Given the description of an element on the screen output the (x, y) to click on. 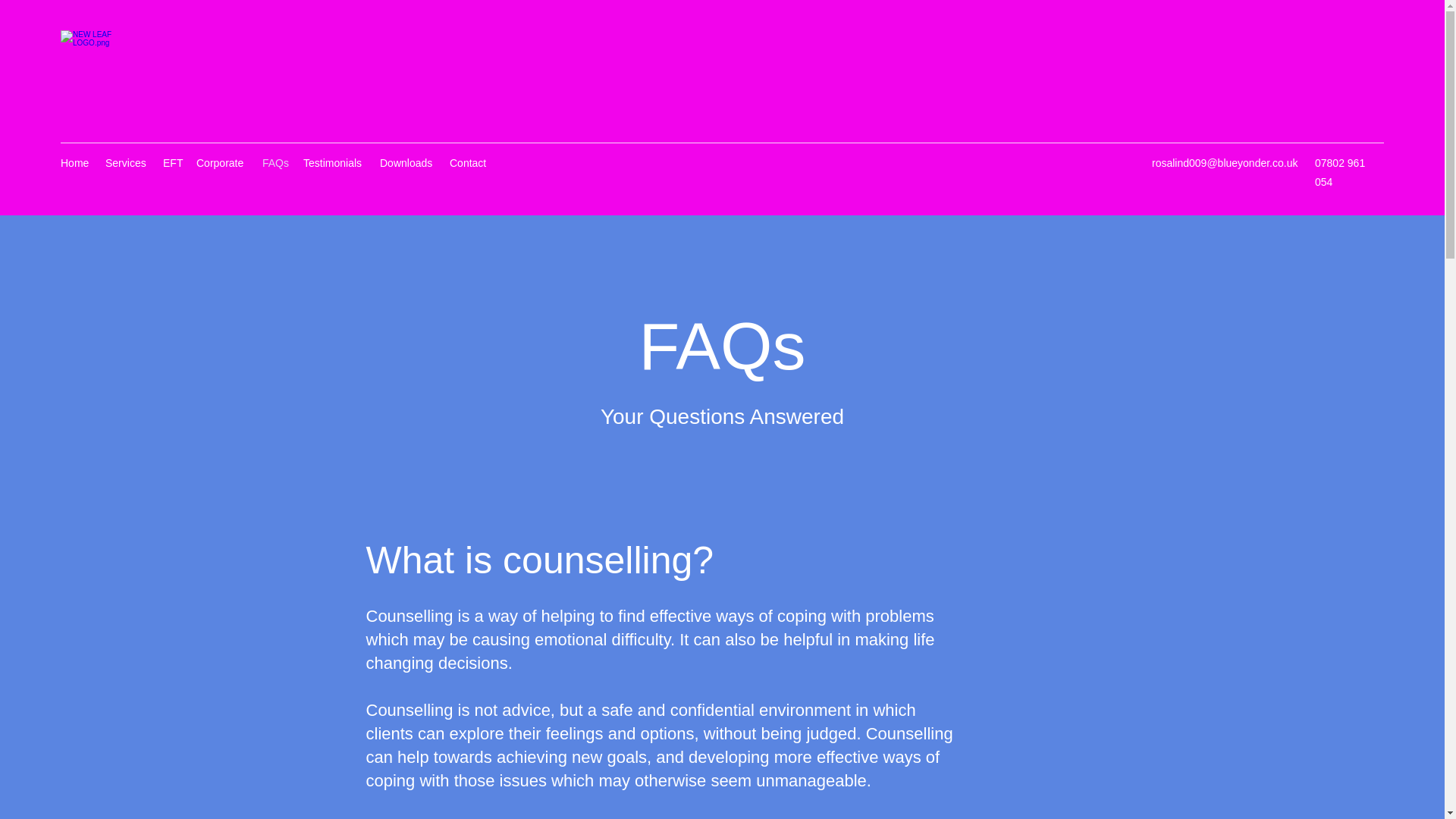
Home (74, 162)
Downloads (407, 162)
Contact (469, 162)
FAQs (274, 162)
